Given the description of an element on the screen output the (x, y) to click on. 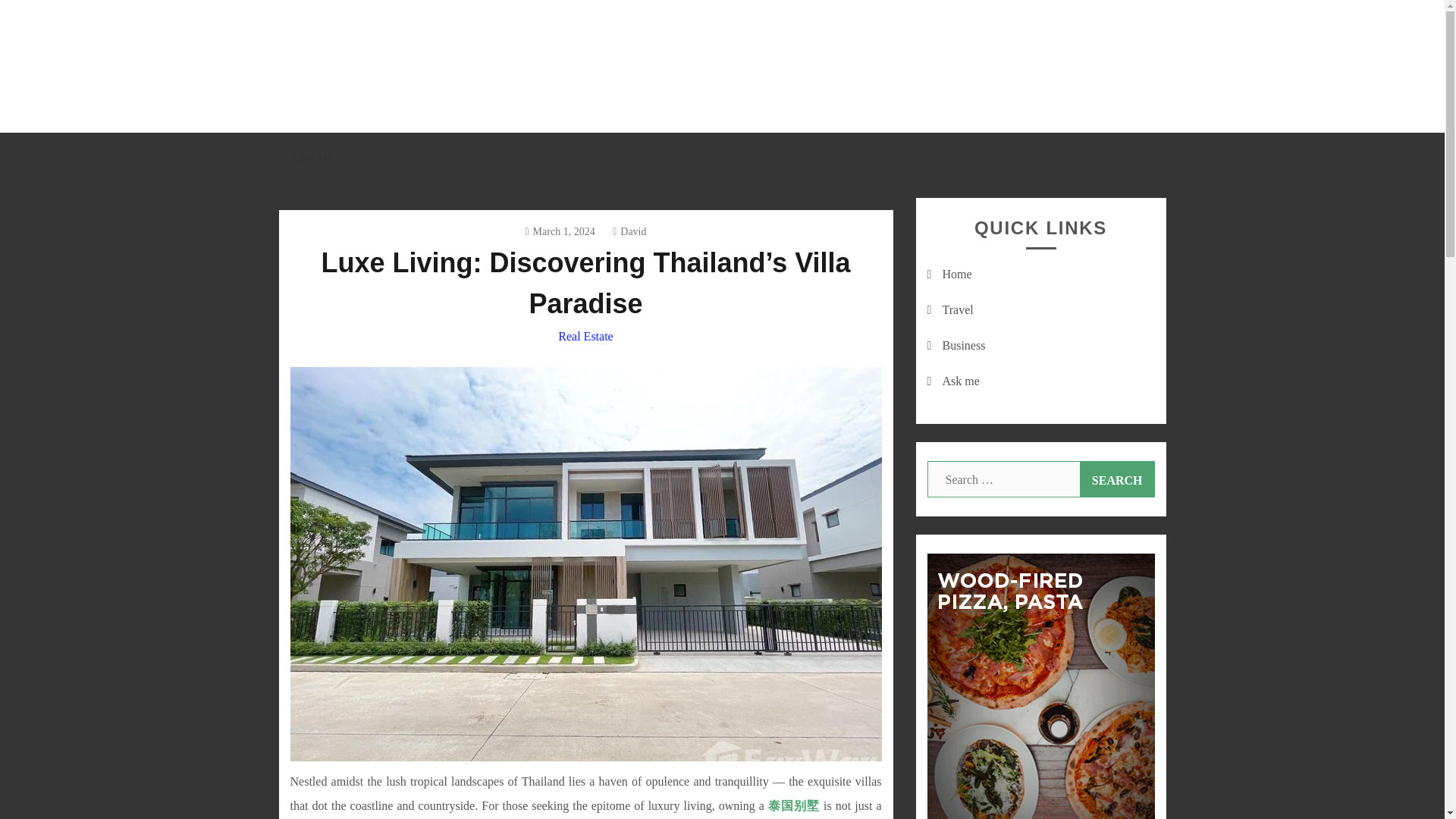
Business (963, 345)
Travel (957, 309)
Real Estate (584, 336)
Ask me (960, 380)
Search (1117, 479)
Search (1117, 479)
Search (1117, 479)
David (629, 231)
Tus Canyva (346, 141)
March 1, 2024 (559, 231)
ASK ME (312, 157)
Home (956, 273)
